Given the description of an element on the screen output the (x, y) to click on. 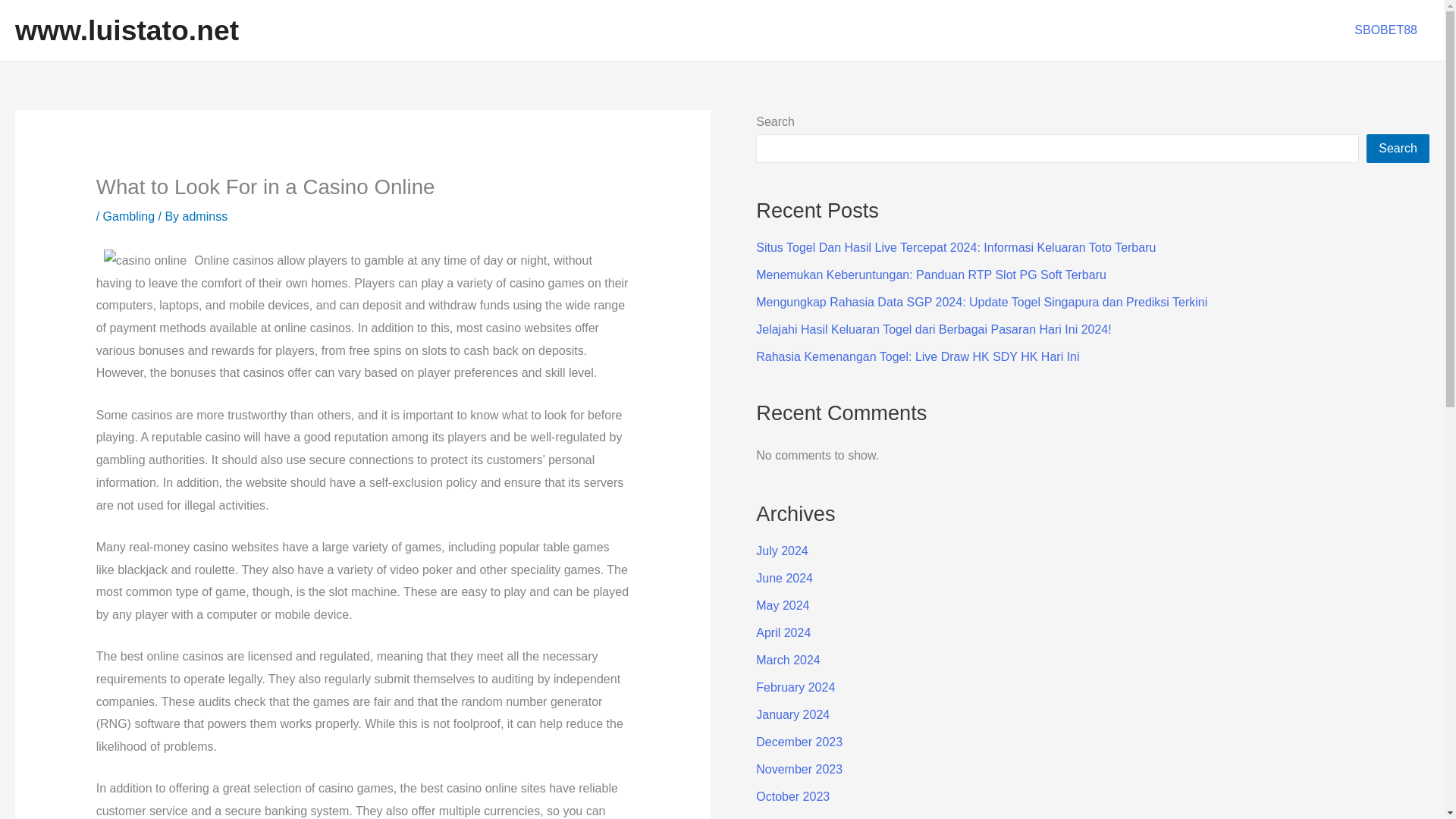
November 2023 (799, 768)
SBOBET88 (1385, 30)
adminss (205, 215)
October 2023 (792, 796)
December 2023 (799, 741)
June 2024 (783, 577)
January 2024 (792, 714)
March 2024 (788, 659)
July 2024 (781, 550)
View all posts by adminss (205, 215)
Rahasia Kemenangan Togel: Live Draw HK SDY HK Hari Ini (916, 356)
February 2024 (794, 686)
Menemukan Keberuntungan: Panduan RTP Slot PG Soft Terbaru (930, 274)
